Given the description of an element on the screen output the (x, y) to click on. 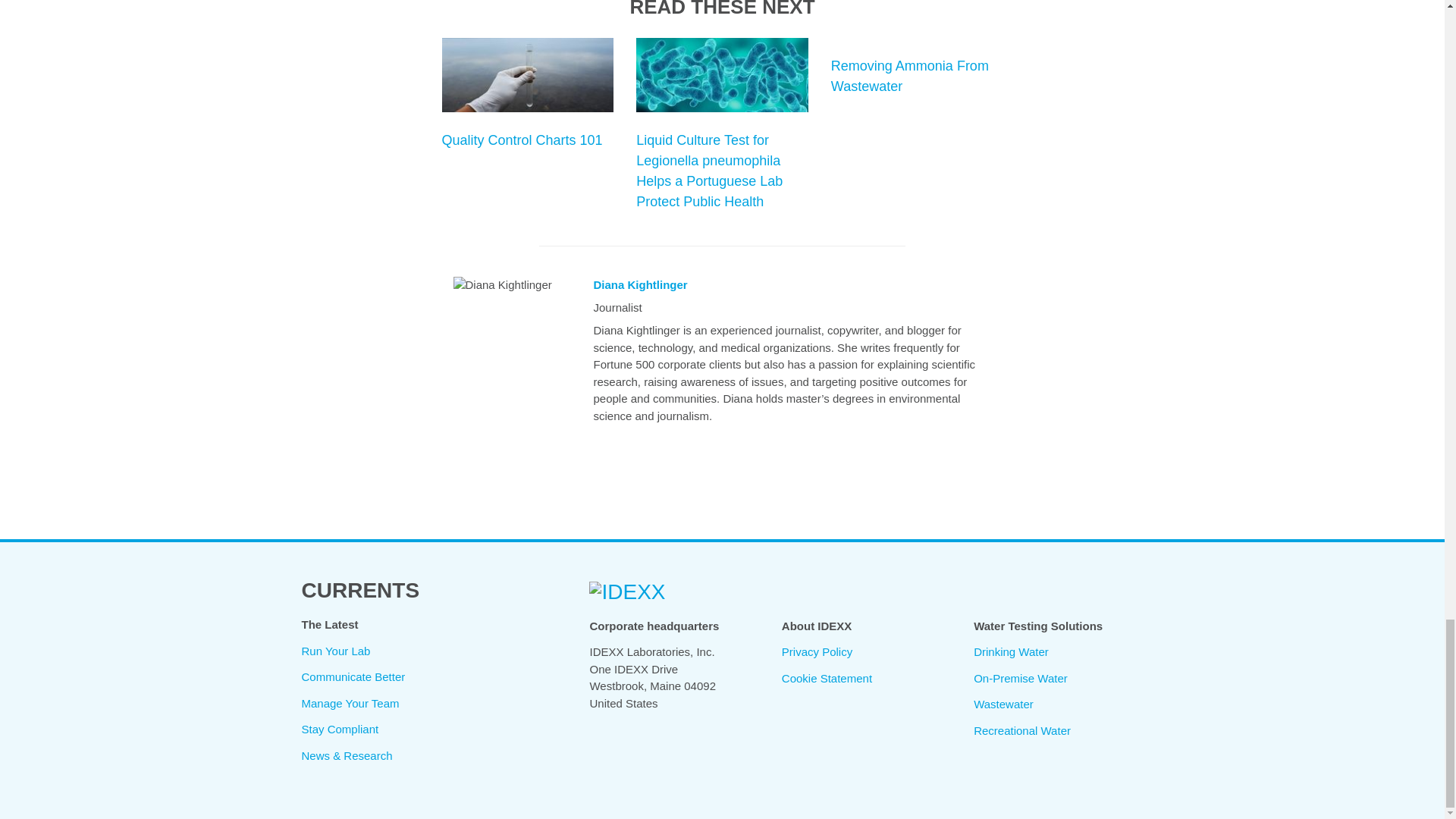
Communicate Better (353, 676)
Quality Control Charts 101 (526, 75)
Manage Your Team (349, 703)
Quality Control Charts 101 (521, 140)
The Latest (329, 624)
Stay Compliant (339, 728)
Run Your Lab (336, 650)
Diana Kightlinger (639, 284)
CURRENTS (360, 589)
